Given the description of an element on the screen output the (x, y) to click on. 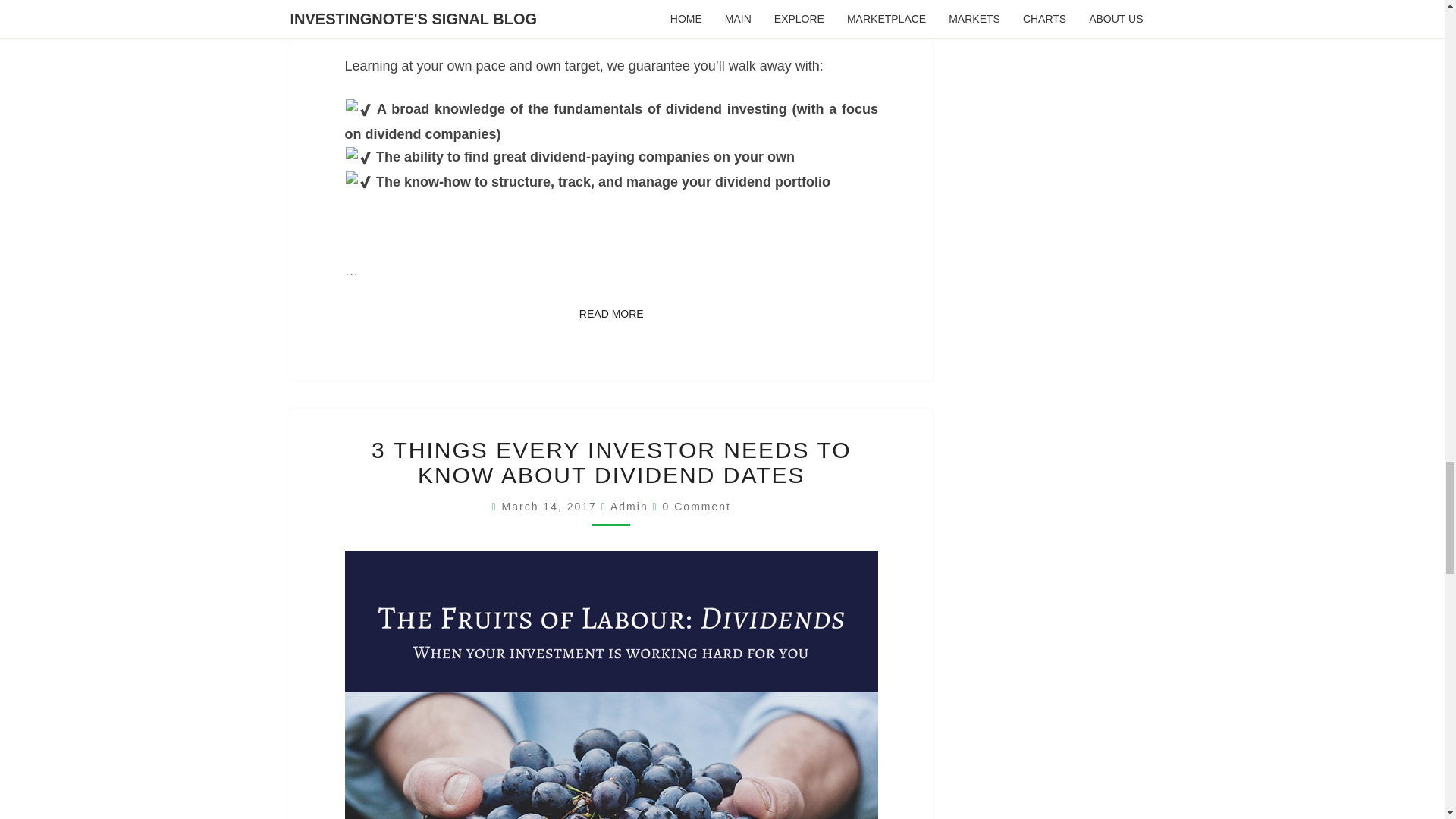
Admin (628, 506)
3 THINGS EVERY INVESTOR NEEDS TO KNOW ABOUT DIVIDEND DATES (611, 462)
11:05 am (551, 506)
View all posts by admin (628, 506)
March 14, 2017 (611, 314)
0 Comment (551, 506)
